Given the description of an element on the screen output the (x, y) to click on. 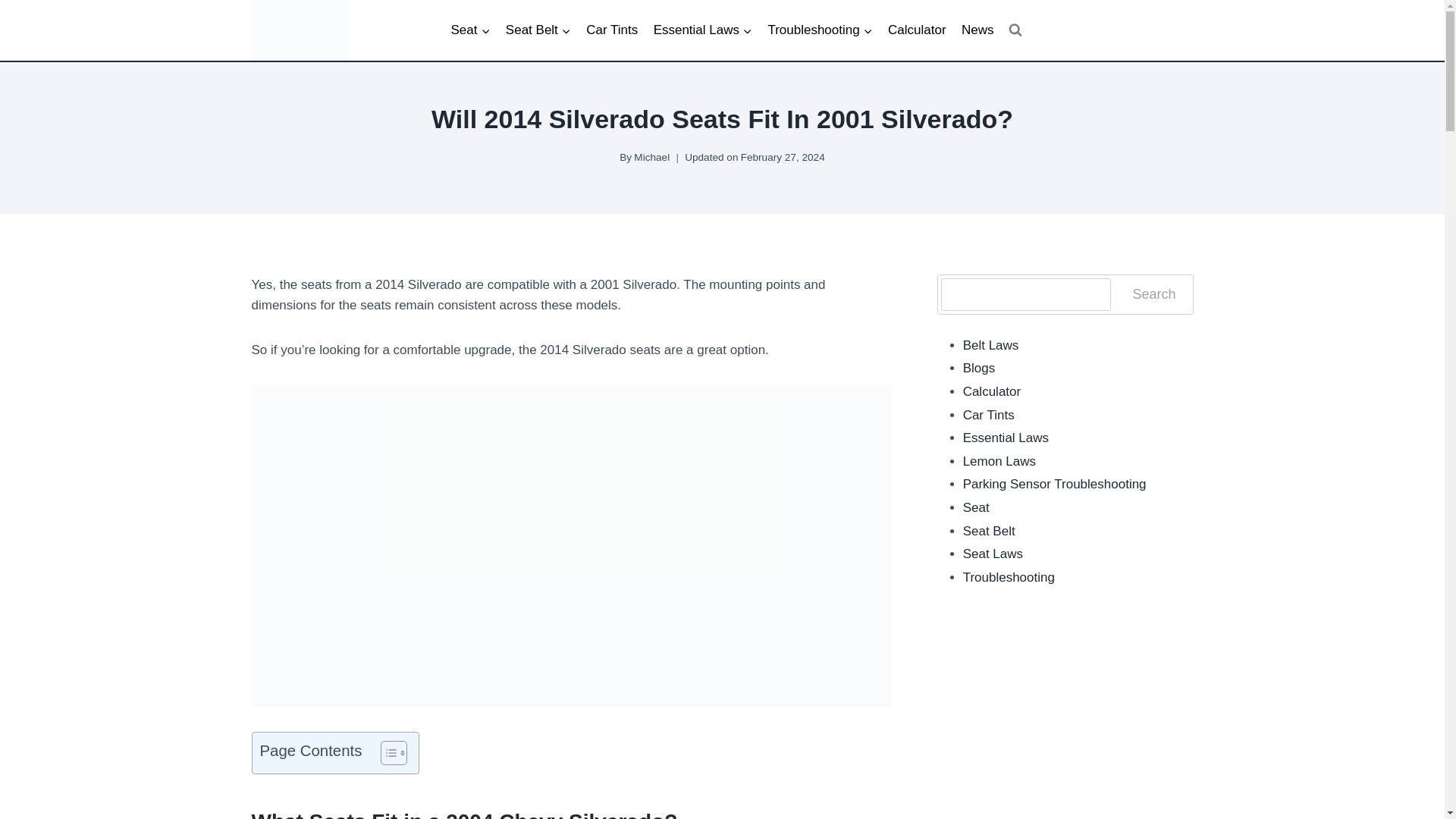
Seat (469, 30)
Michael (651, 156)
Essential Laws (702, 30)
Seat Belt (537, 30)
Calculator (916, 30)
News (977, 30)
Search (1153, 294)
Car Tints (611, 30)
Troubleshooting (820, 30)
